Given the description of an element on the screen output the (x, y) to click on. 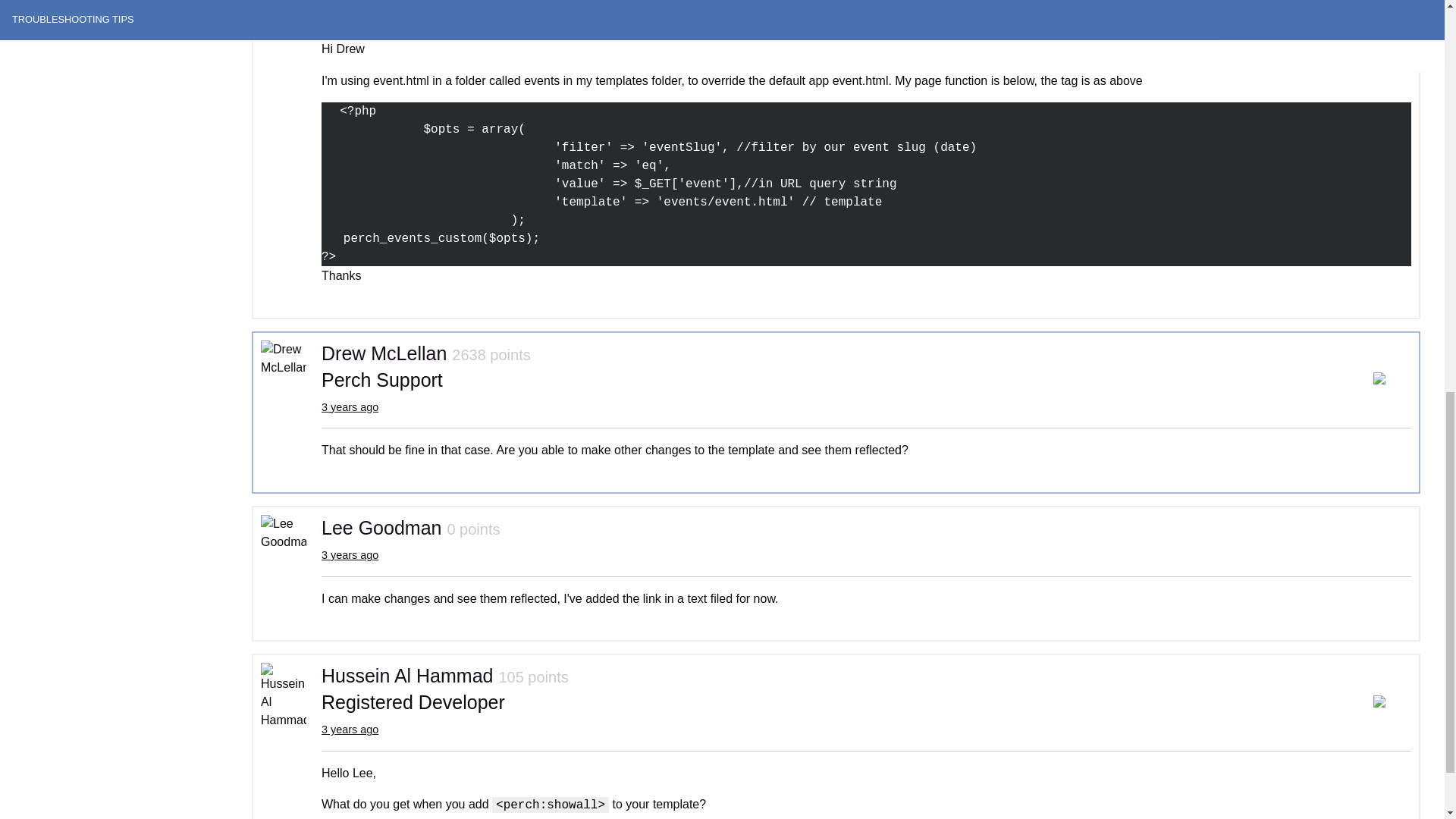
Drew McLellan (383, 353)
Hussein Al Hammad (407, 675)
3 years ago (349, 729)
3 years ago (349, 5)
3 years ago (349, 407)
Lee Goodman (381, 527)
3 years ago (349, 554)
